Given the description of an element on the screen output the (x, y) to click on. 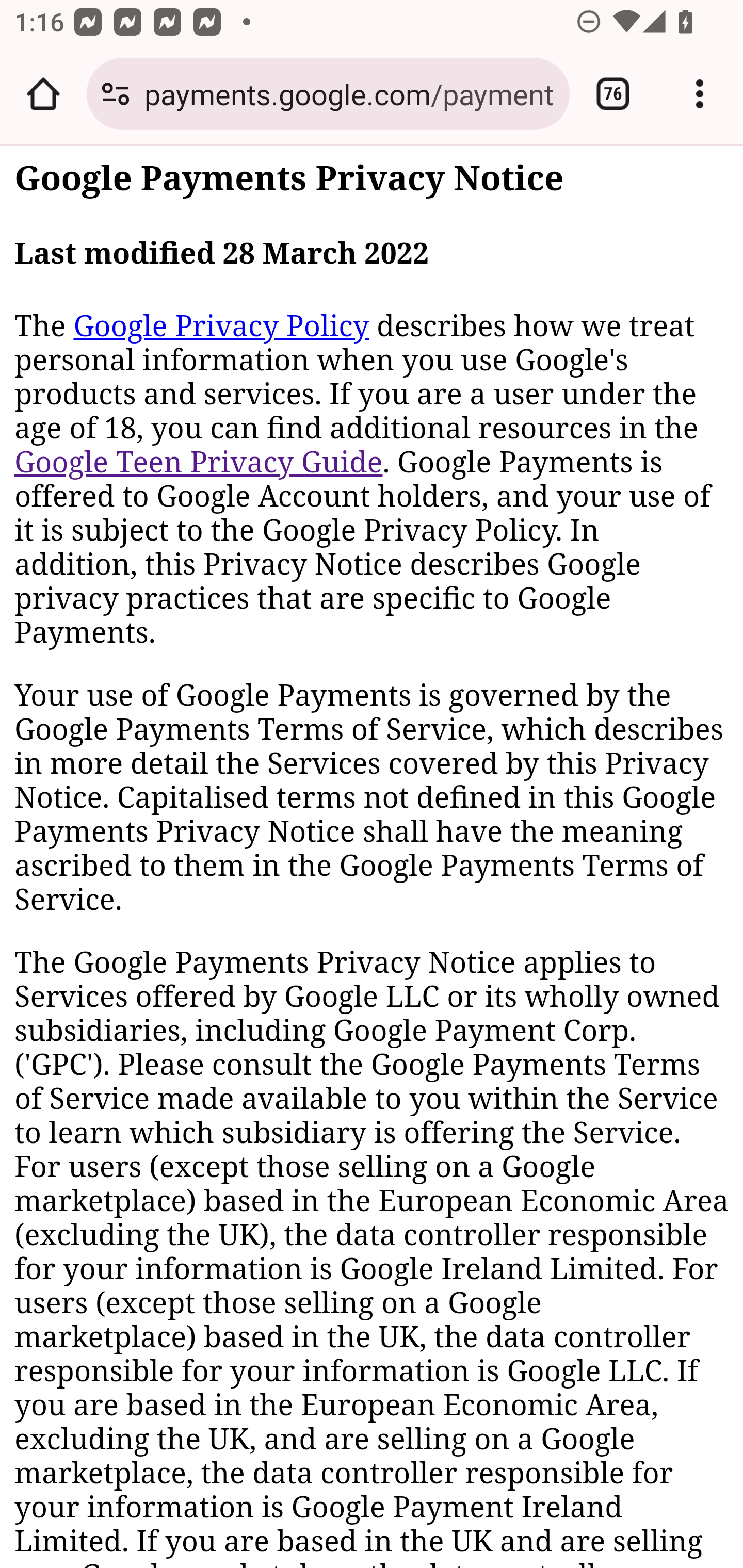
Open the home page (43, 93)
Connection is secure (115, 93)
Switch or close tabs (612, 93)
Customize and control Google Chrome (699, 93)
Google Privacy Policy (221, 326)
Google Teen Privacy Guide (199, 461)
